Given the description of an element on the screen output the (x, y) to click on. 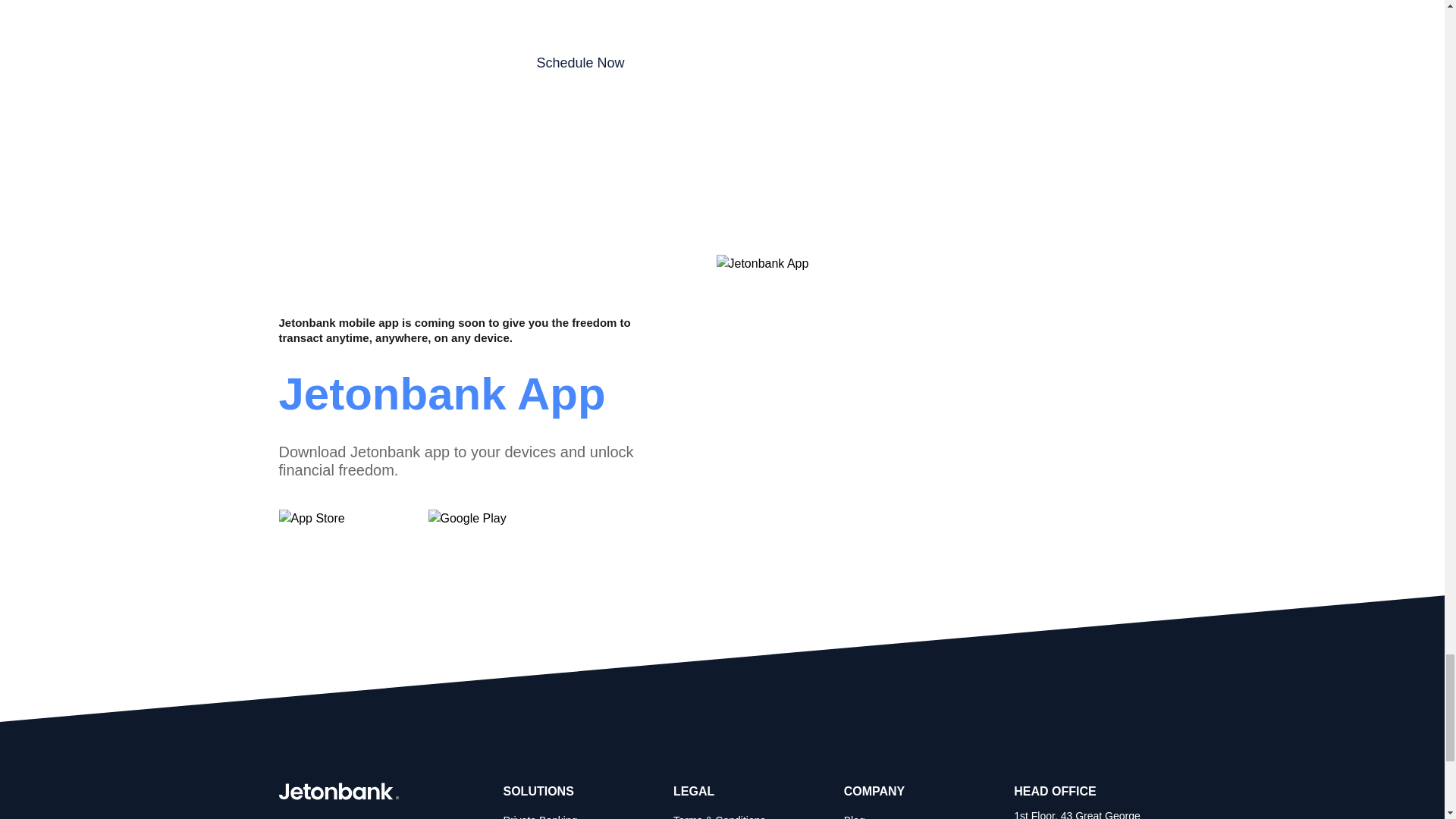
Schedule Now (580, 63)
Private Banking (540, 816)
Blog (854, 816)
